Given the description of an element on the screen output the (x, y) to click on. 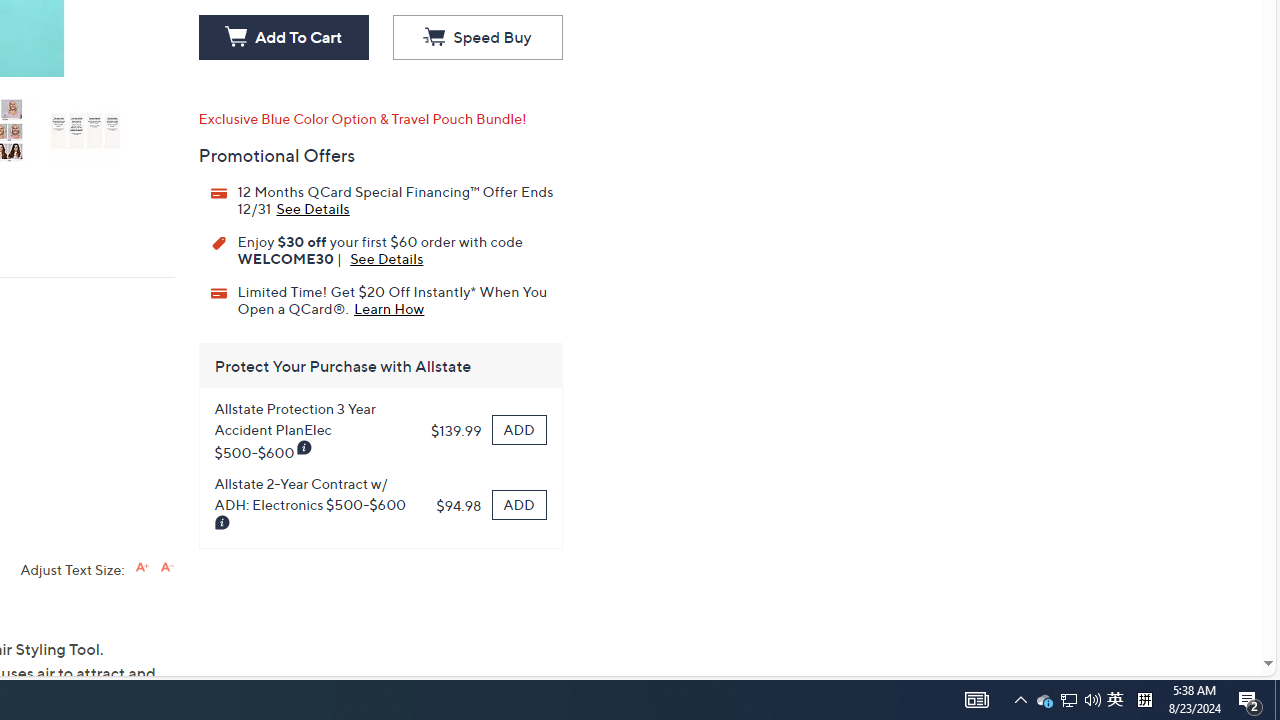
Learn How (389, 307)
Action Center, 2 new notifications (1044, 699)
Show desktop (1250, 699)
AutomationID: 4105 (1277, 699)
Speed Buy (976, 699)
Increase font size (477, 38)
Notification Chevron (141, 566)
